Given the description of an element on the screen output the (x, y) to click on. 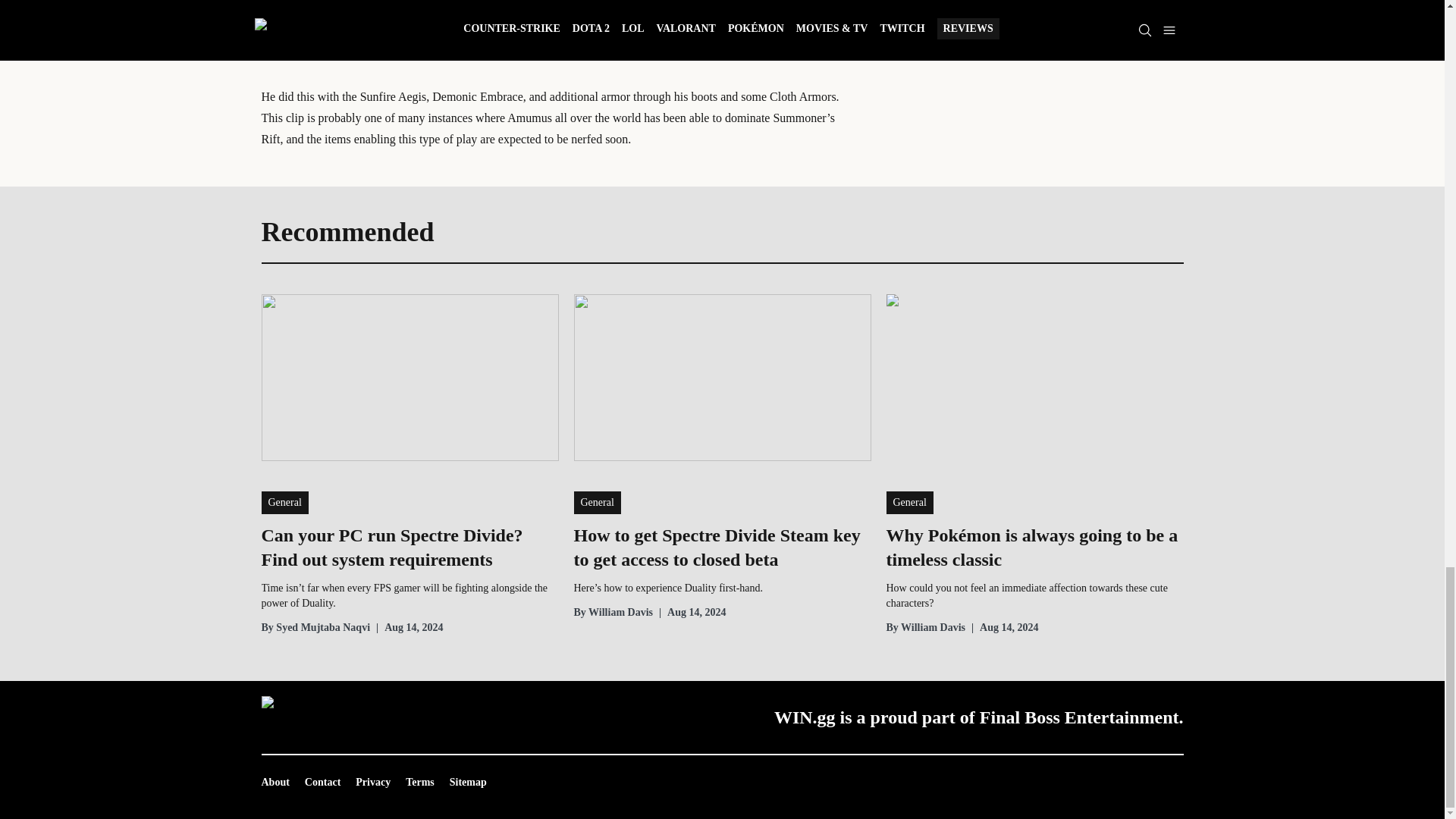
General (909, 502)
By Syed Mujtaba Naqvi (314, 627)
General (596, 502)
General (283, 502)
Can your PC run Spectre Divide? Find out system requirements (408, 547)
By William Davis (612, 612)
